Given the description of an element on the screen output the (x, y) to click on. 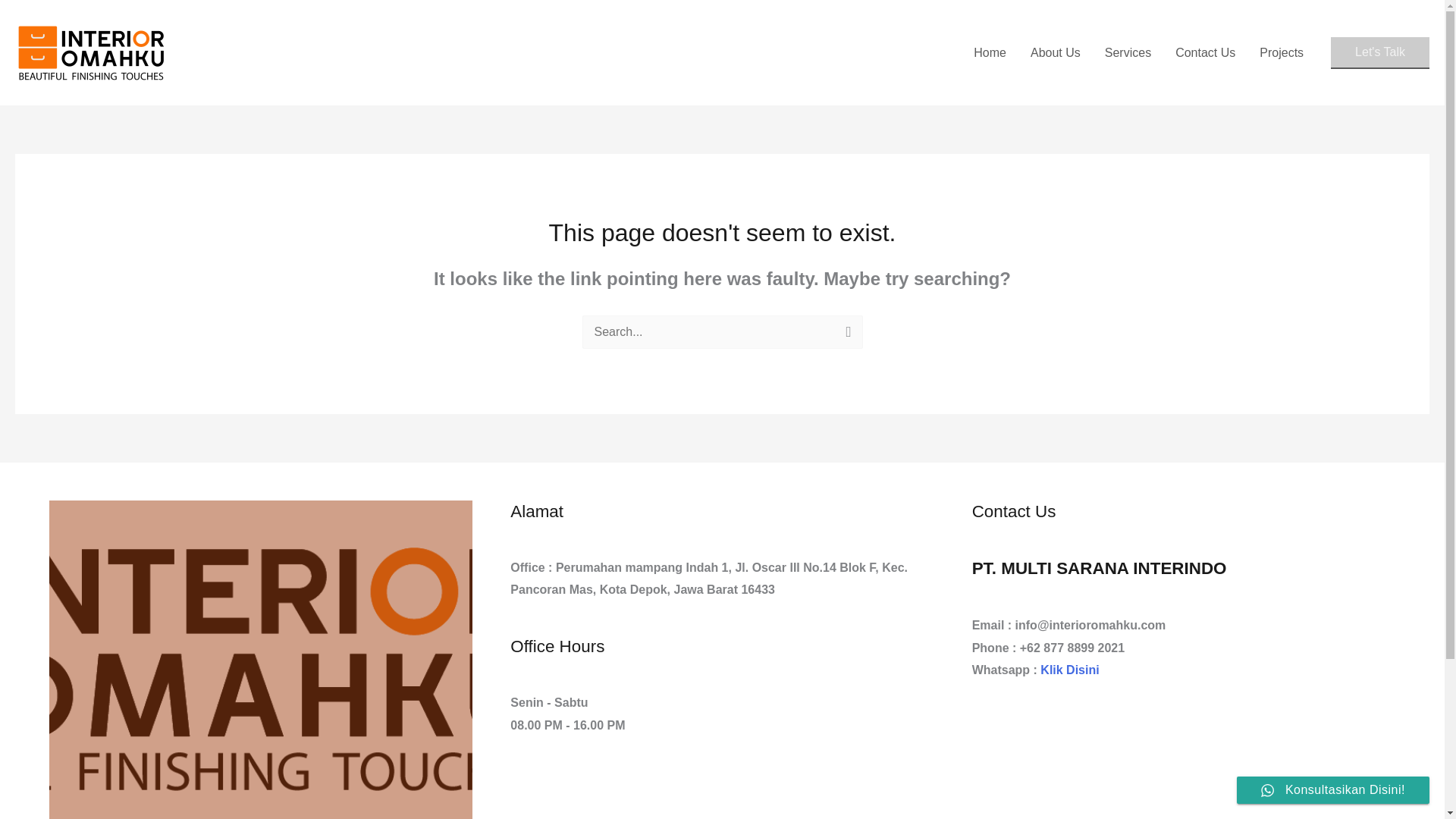
Let'S Talk (1379, 51)
About Us (1055, 51)
Projects (1281, 51)
Contact Us (1205, 51)
Home (988, 51)
Services (1128, 51)
Klik Disini (1070, 669)
